Given the description of an element on the screen output the (x, y) to click on. 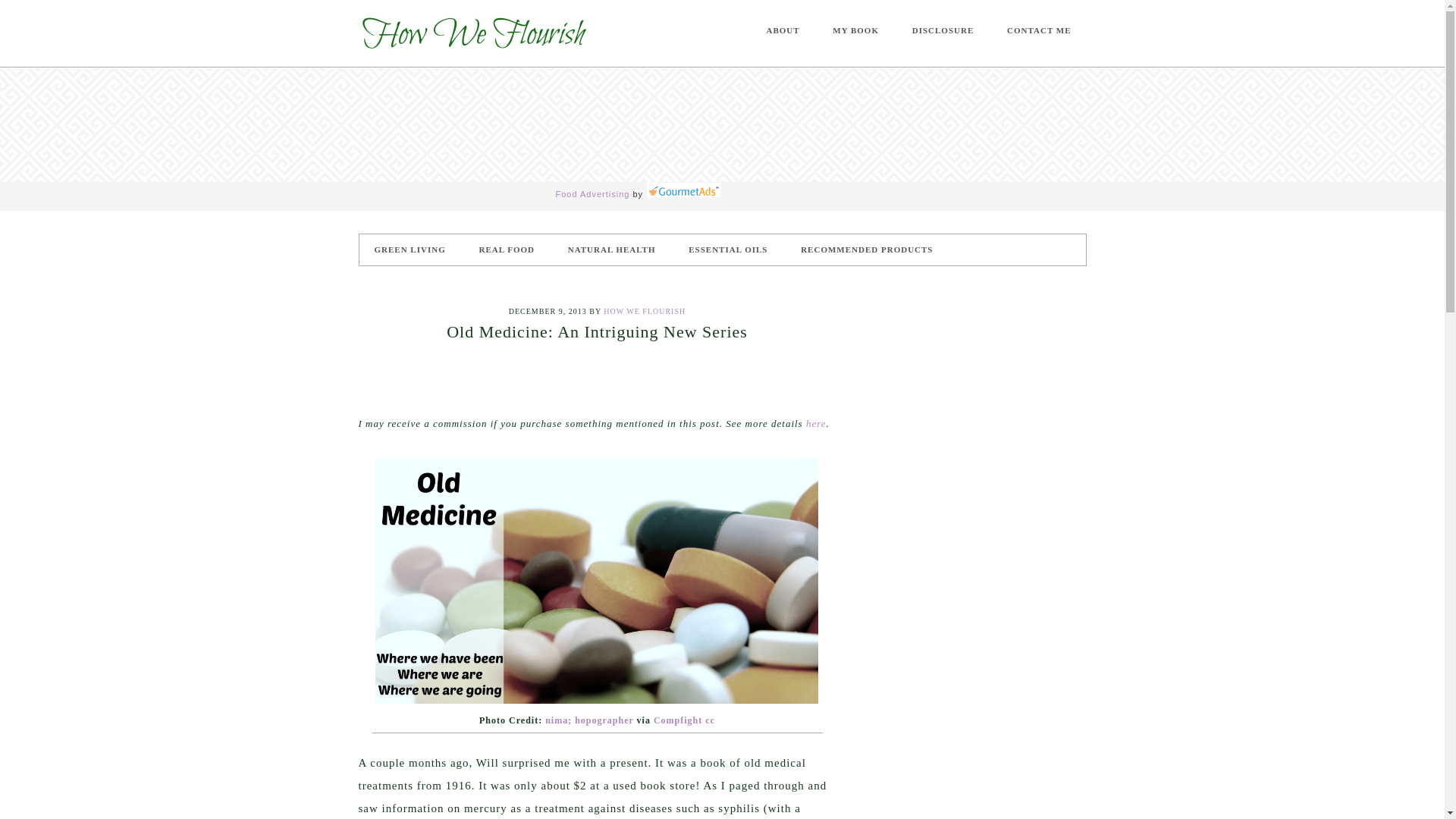
NATURAL HEALTH (612, 249)
DISCLOSURE (943, 30)
CONTACT ME (1038, 30)
Food Advertising (591, 194)
HOW WE FLOURISH (471, 32)
Food Advertising (591, 194)
GREEN LIVING (410, 249)
Old Medicine (595, 580)
ABOUT (782, 30)
REAL FOOD (505, 249)
